Given the description of an element on the screen output the (x, y) to click on. 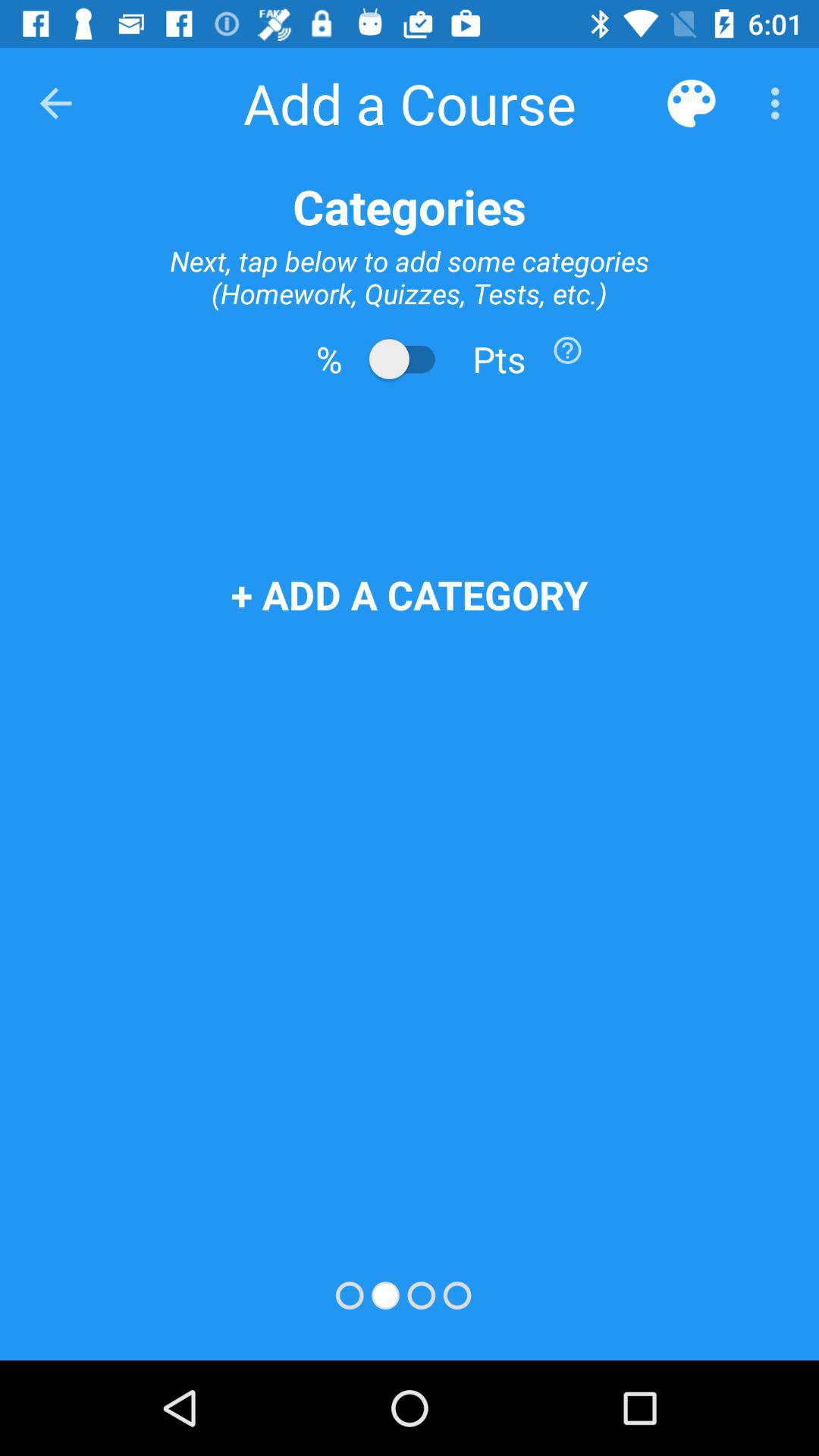
what is this (567, 350)
